Given the description of an element on the screen output the (x, y) to click on. 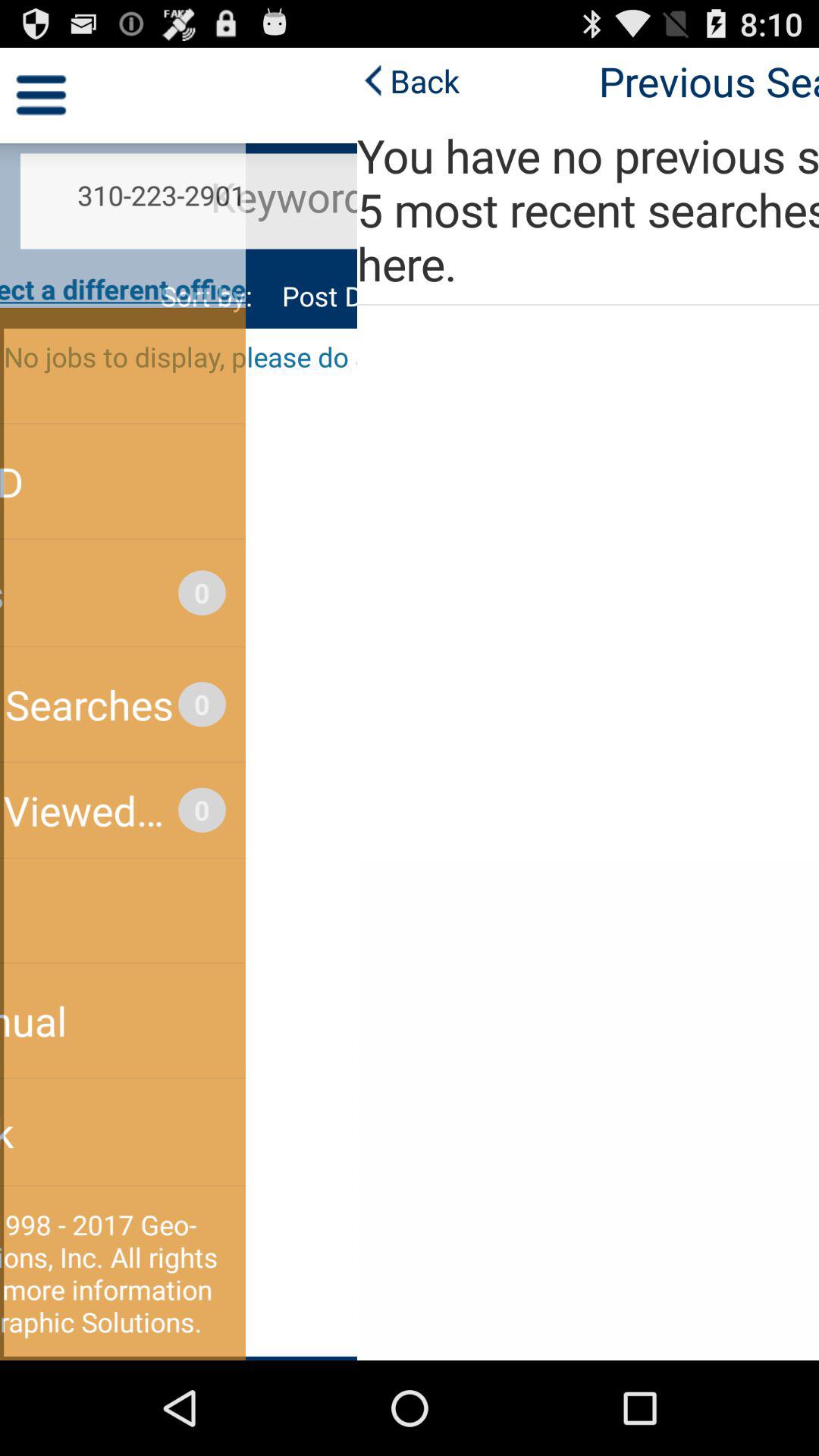
tap the app above you have no icon (51, 80)
